Given the description of an element on the screen output the (x, y) to click on. 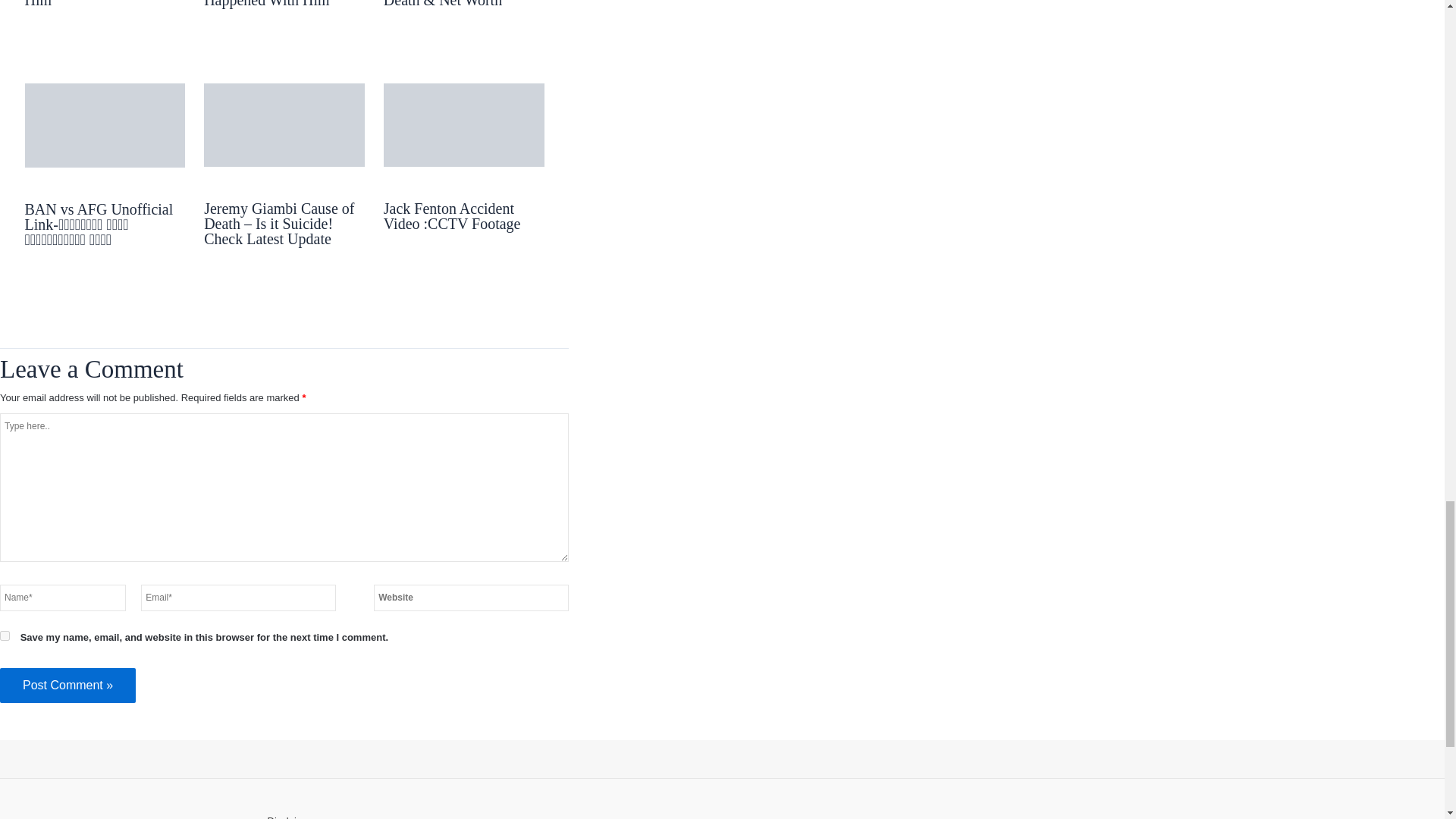
Glen De Vries Dies at 49- What Happened With Him (102, 4)
Jack Fenton Accident Video :CCTV Footage (452, 215)
yes (5, 635)
